Given the description of an element on the screen output the (x, y) to click on. 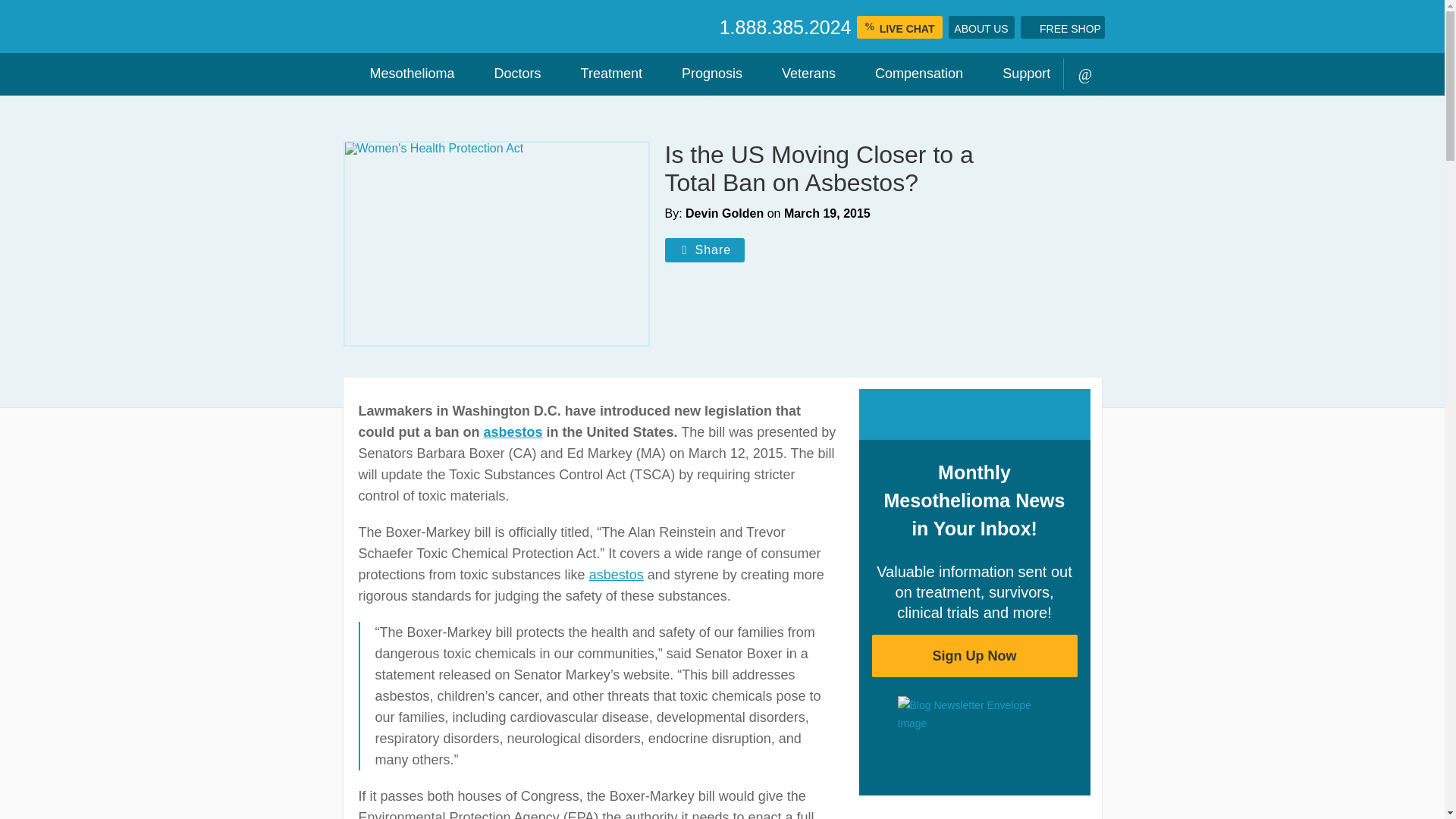
asbestos (616, 574)
LIVE CHAT (899, 26)
Mesothelioma (404, 74)
Read Is the US Moving Closer to a Total Ban on Asbestos? (495, 243)
Prognosis: Extend Your Life (705, 74)
Veterans: Asbestos Exposure (801, 74)
Treatment: Discover Options (604, 74)
Mesothelioma: Learn the Basics (404, 74)
MesotheliomaGuide.com (524, 27)
FREE SHOP (1062, 26)
1.888.385.2024 (785, 28)
ABOUT US (980, 26)
Doctors: Locate Specialists (510, 74)
